Given the description of an element on the screen output the (x, y) to click on. 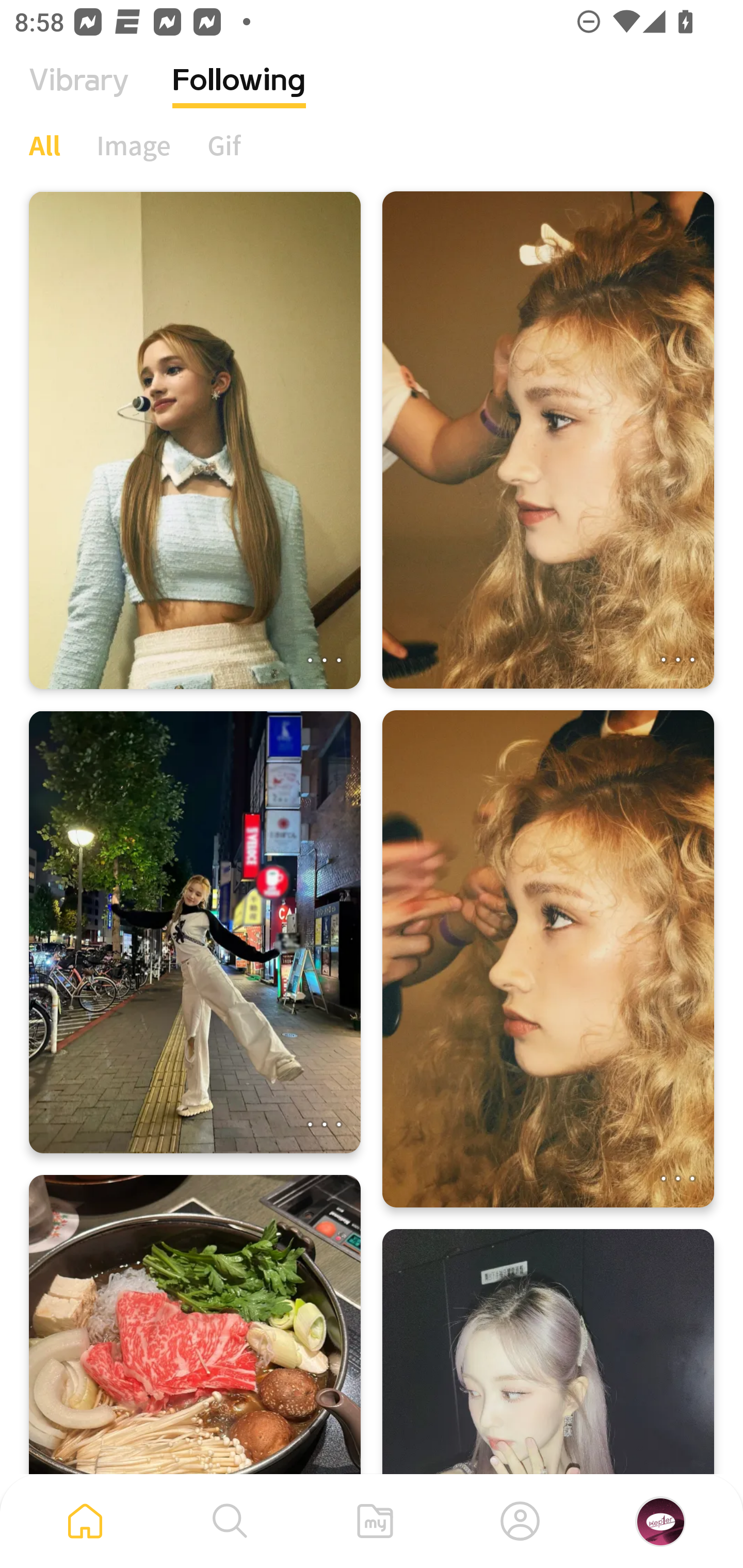
Vibrary (78, 95)
Following (239, 95)
All (44, 145)
Image (133, 145)
Gif (223, 145)
